Given the description of an element on the screen output the (x, y) to click on. 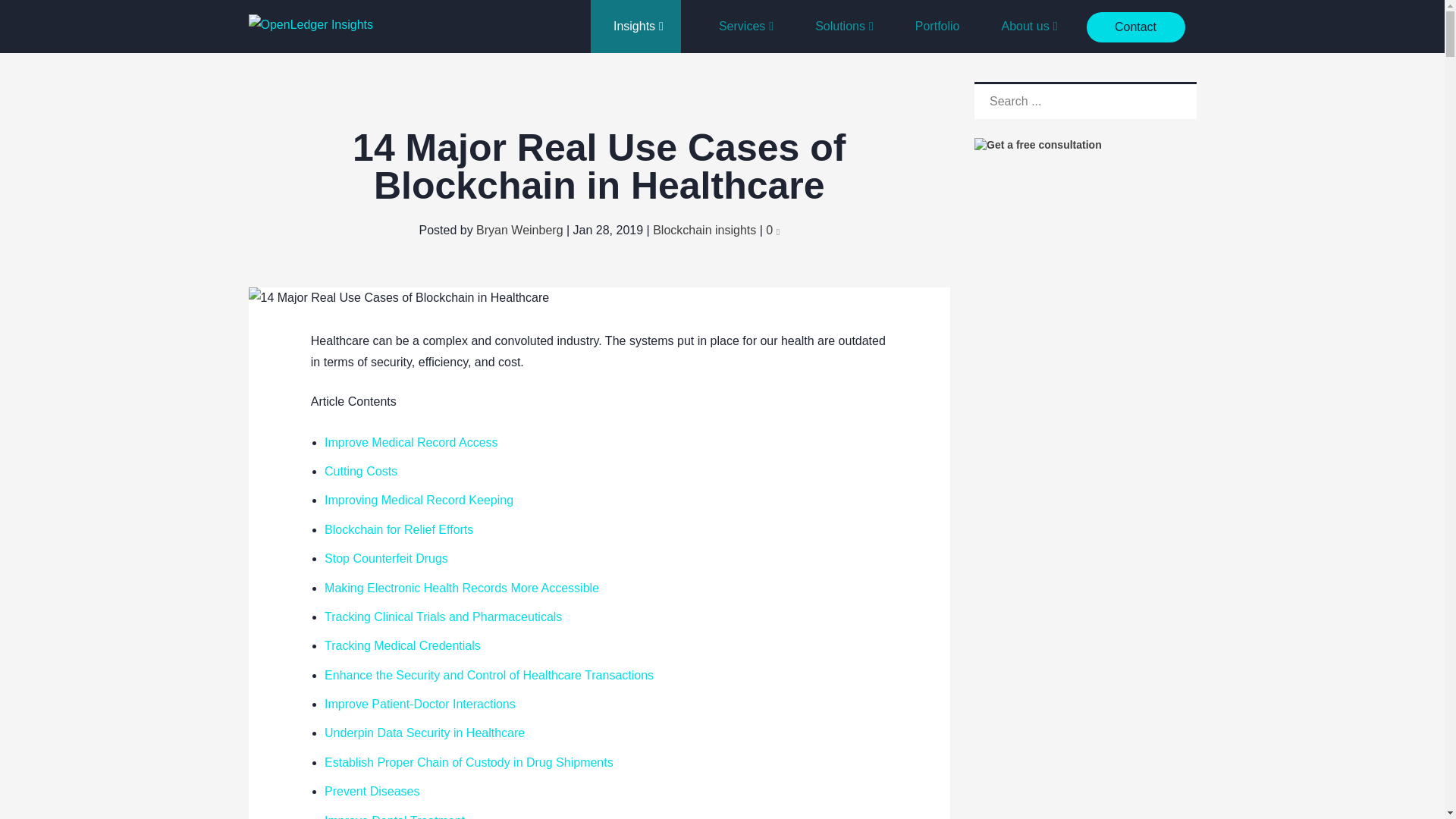
0 (771, 229)
Solutions (838, 26)
Insights (636, 26)
Bryan Weinberg (519, 229)
Portfolio (931, 26)
Solutions (838, 26)
Services (740, 26)
Insights (636, 26)
Blockchain insights (703, 229)
Cutting Costs (360, 471)
Services (740, 26)
Search (1176, 105)
Improve Medical Record Access (410, 441)
Contact (1135, 27)
About us (1023, 26)
